Given the description of an element on the screen output the (x, y) to click on. 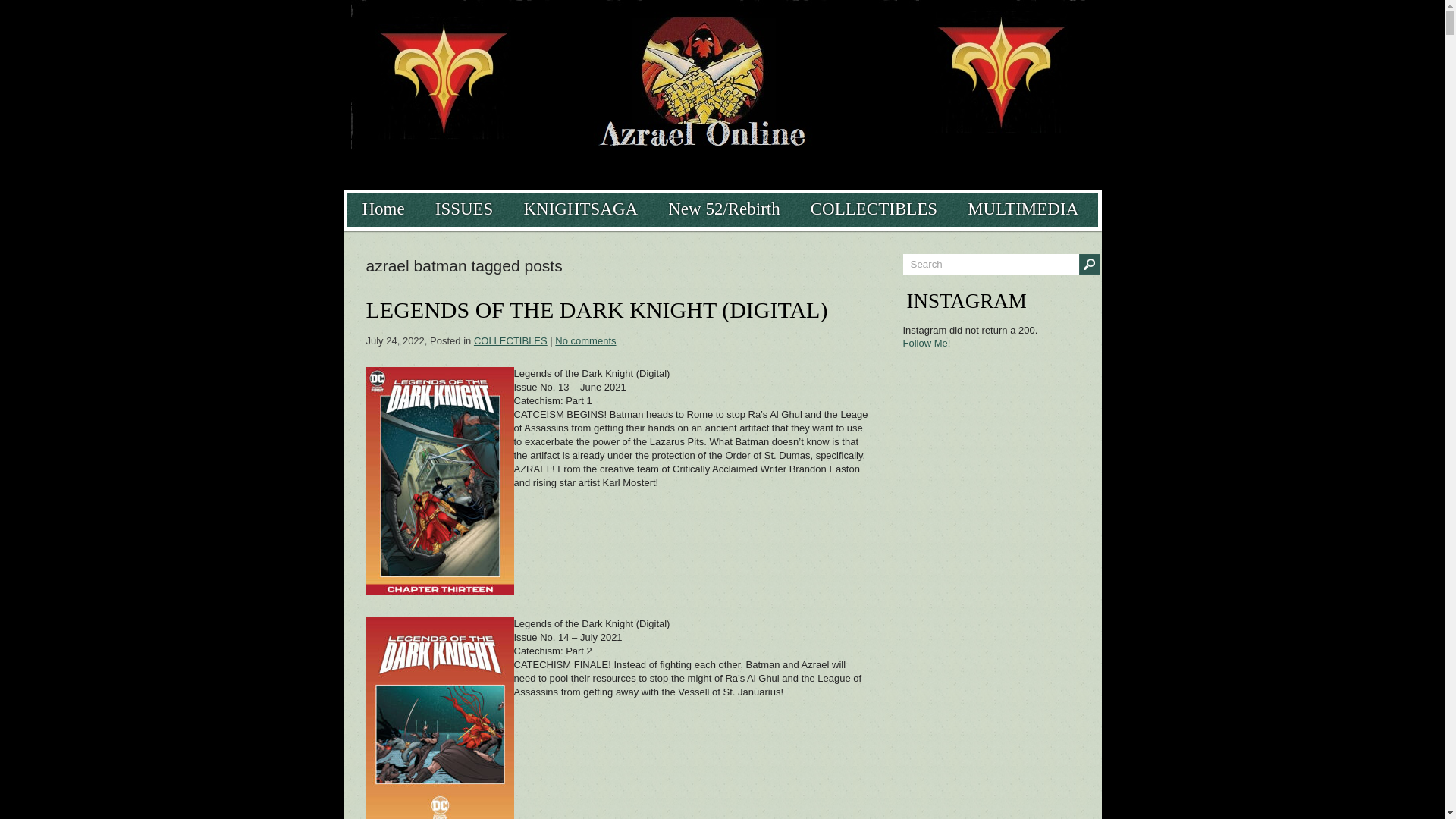
ISSUES (464, 209)
Follow Me! (926, 342)
COLLECTIBLES (510, 340)
MULTIMEDIA (1022, 209)
COLLECTIBLES (873, 209)
Search (990, 263)
Home (383, 209)
No comments (584, 340)
Search (990, 263)
KNIGHTSAGA (580, 209)
